Given the description of an element on the screen output the (x, y) to click on. 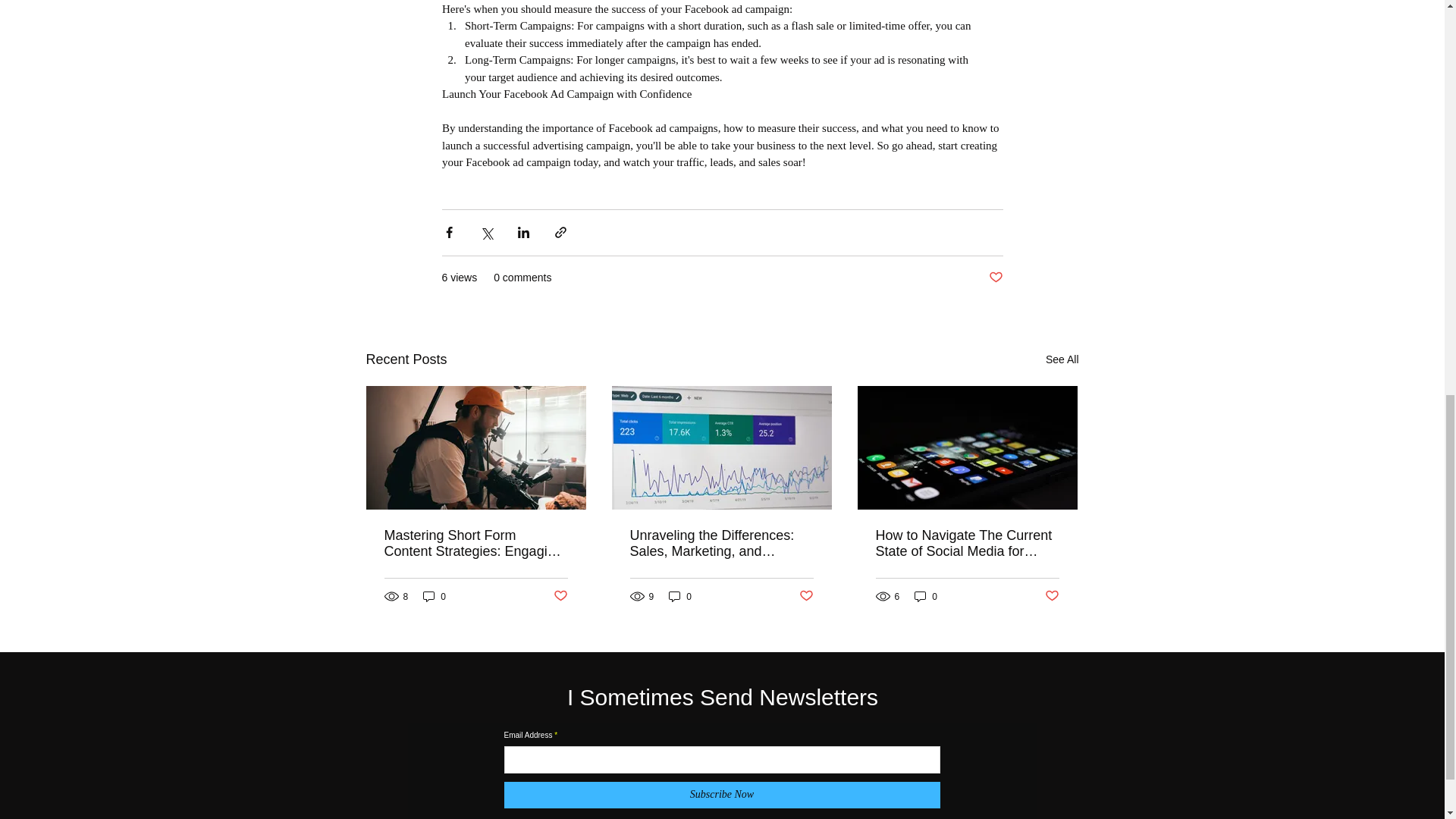
Post not marked as liked (560, 596)
Post not marked as liked (995, 277)
0 (925, 595)
See All (1061, 359)
0 (679, 595)
Post not marked as liked (1052, 596)
Subscribe Now (721, 795)
Post not marked as liked (806, 596)
0 (434, 595)
